Given the description of an element on the screen output the (x, y) to click on. 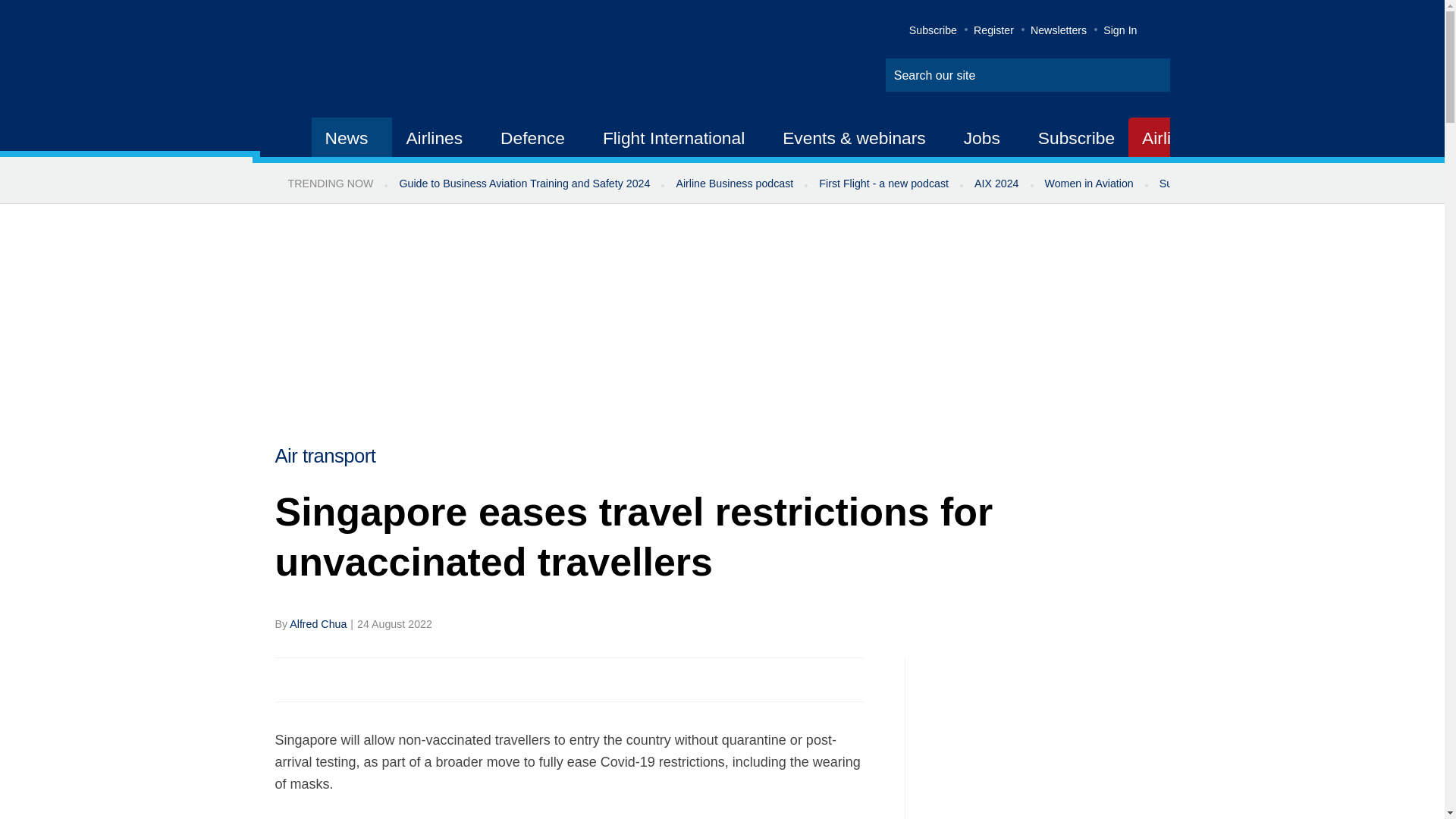
Guide to Business Aviation Training and Safety 2024 (523, 183)
Airline Business podcast (734, 183)
Women in Aviation (1089, 183)
Share this on Facebook (288, 678)
First Flight - a new podcast (883, 183)
Email this article (386, 678)
Share this on Linked in (352, 678)
Share this on Twitter (320, 678)
AIX 2024 (996, 183)
Sustainable Aviation newsletter (1234, 183)
